Given the description of an element on the screen output the (x, y) to click on. 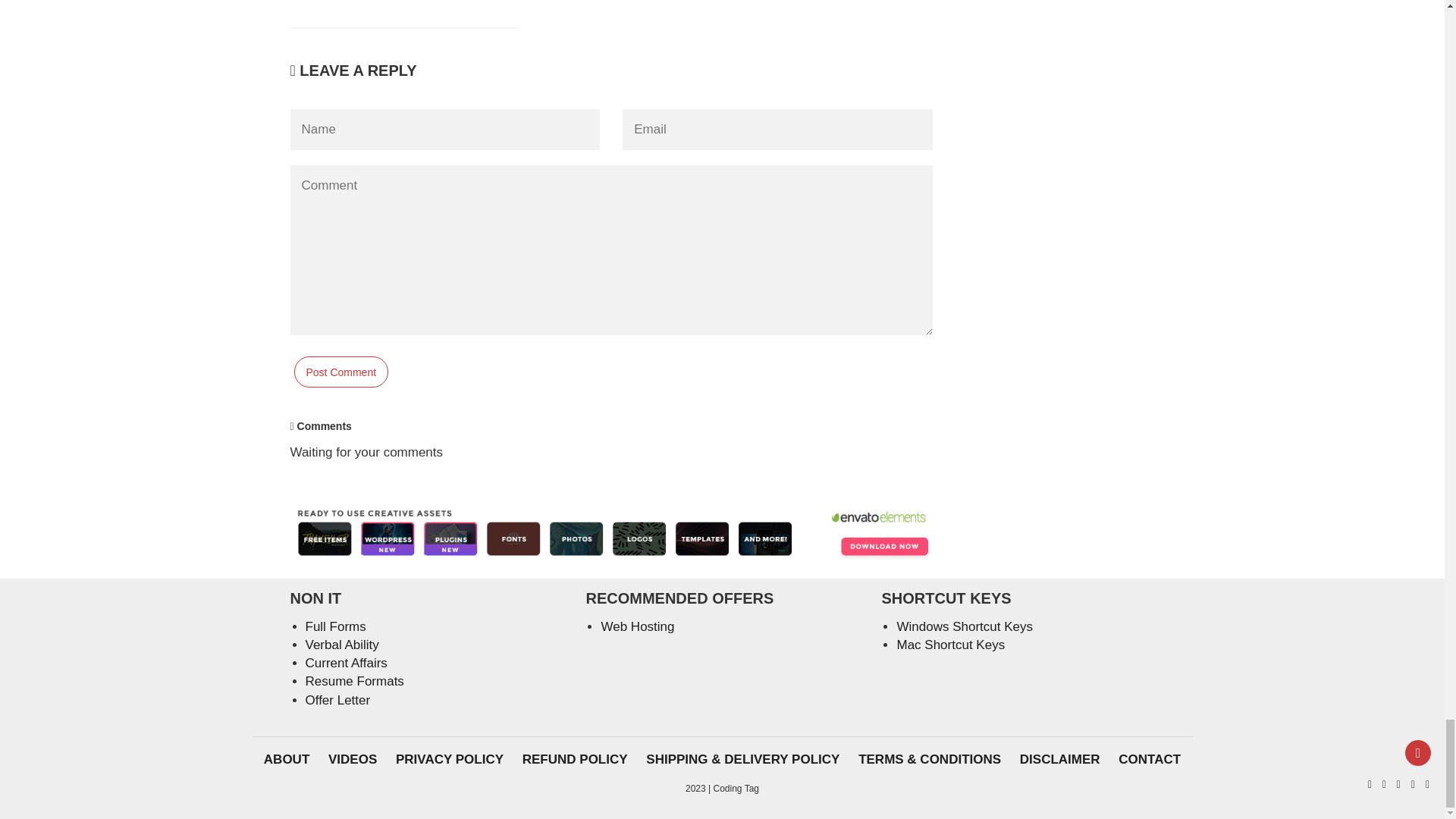
Post Comment (341, 371)
